Given the description of an element on the screen output the (x, y) to click on. 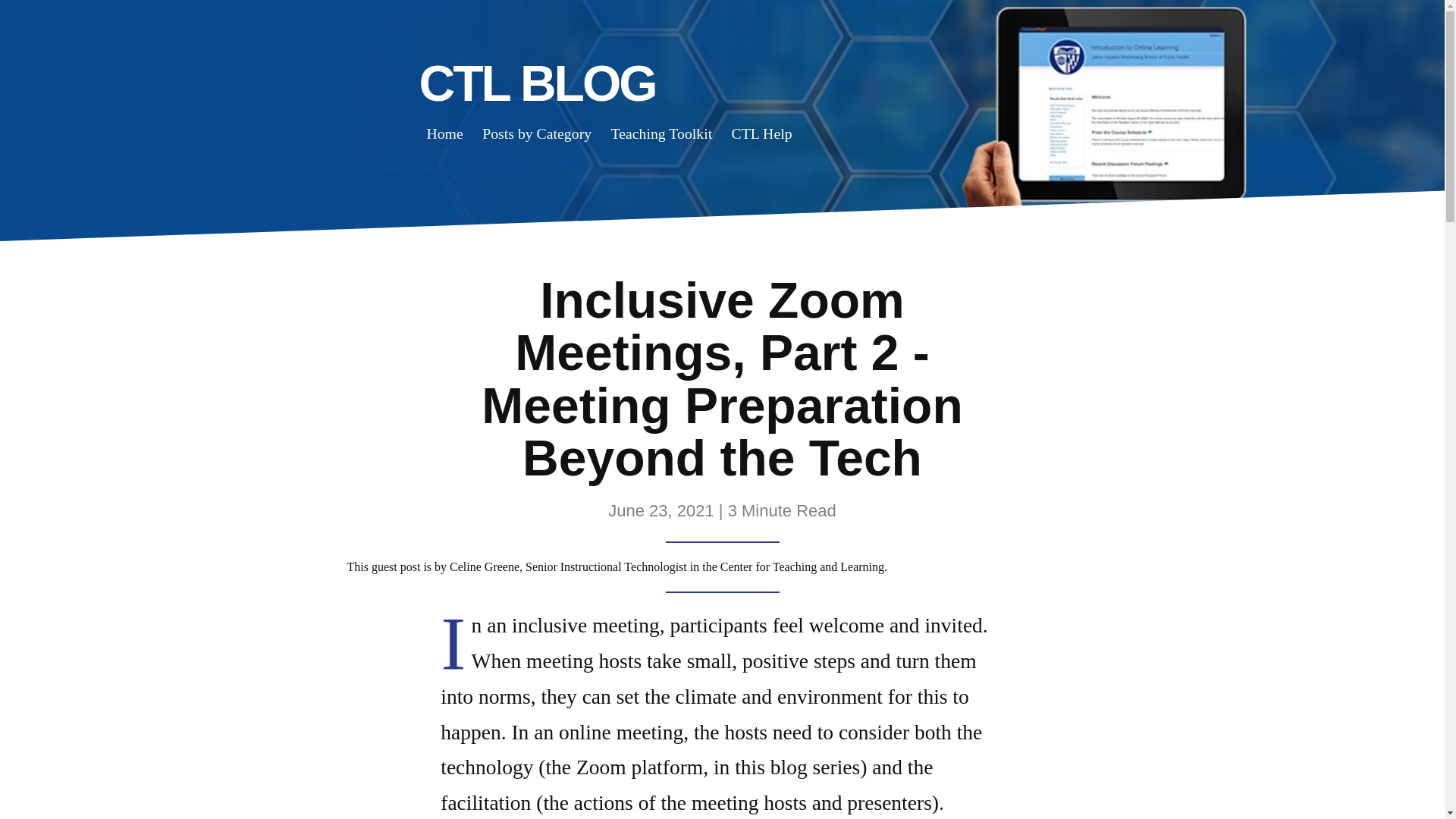
Posts by Category (537, 133)
CTL BLOG (537, 83)
CTL Help (762, 133)
Teaching Toolkit (661, 133)
